Given the description of an element on the screen output the (x, y) to click on. 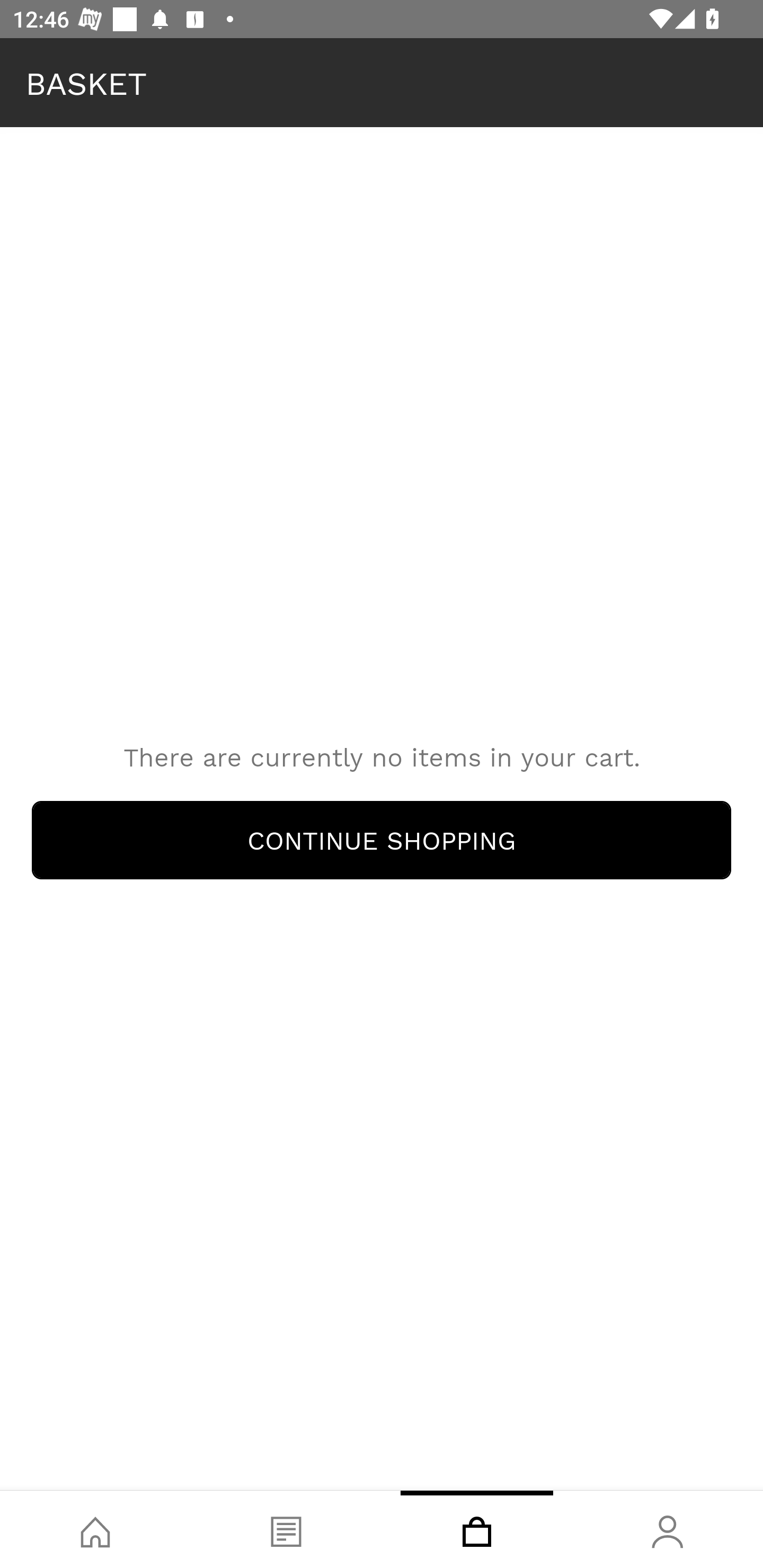
Continue Shopping CONTINUE SHOPPING (381, 840)
Shop, tab, 1 of 4 (95, 1529)
Blog, tab, 2 of 4 (285, 1529)
Basket, tab, 3 of 4 (476, 1529)
Account, tab, 4 of 4 (667, 1529)
